Given the description of an element on the screen output the (x, y) to click on. 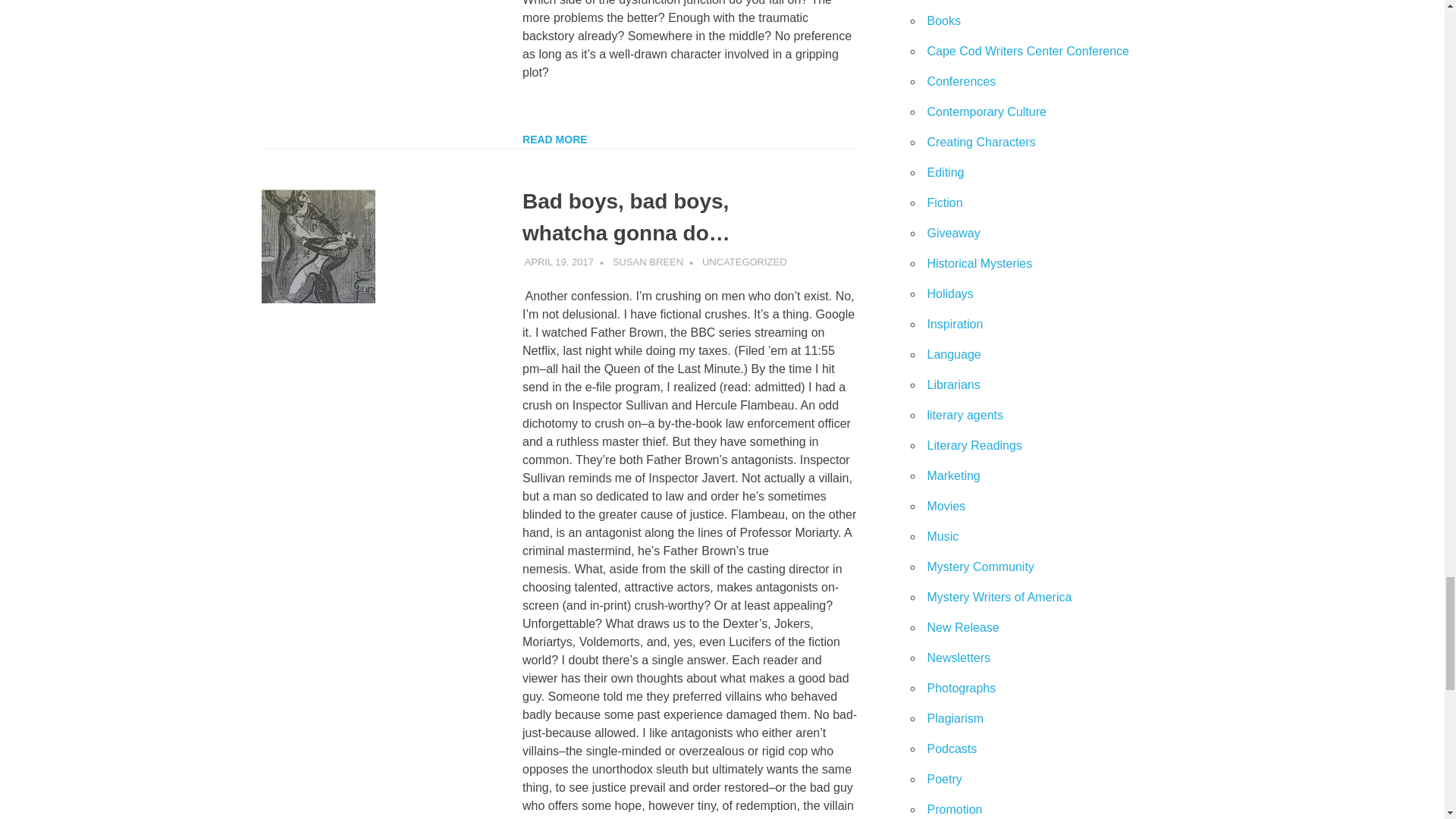
APRIL 19, 2017 (559, 261)
View all posts by Susan Breen (647, 261)
SUSAN BREEN (647, 261)
READ MORE (555, 139)
6:58 pm (559, 261)
